Given the description of an element on the screen output the (x, y) to click on. 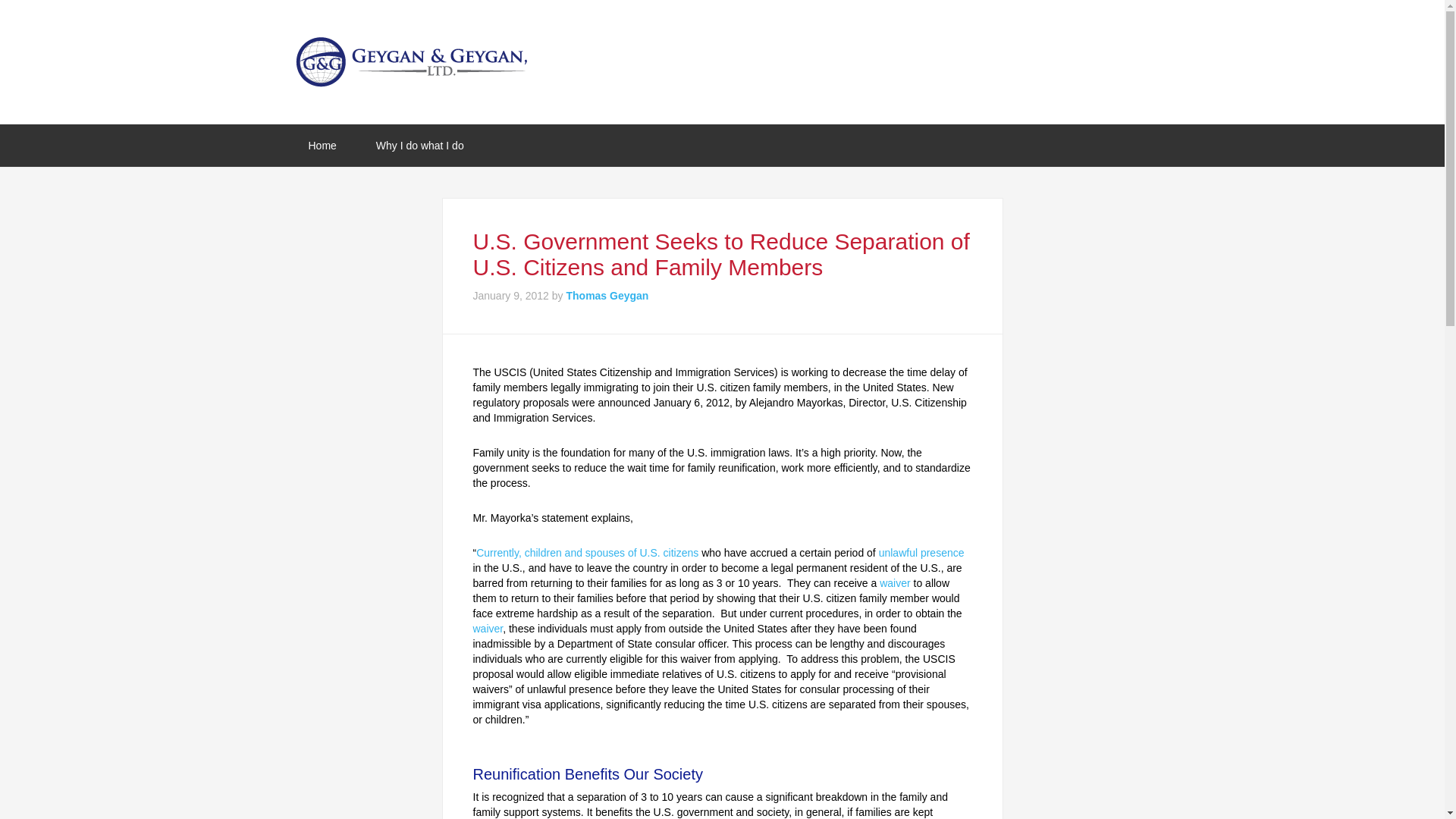
Currently, children and spouses of U.S. citizens (588, 552)
waiver (894, 582)
waiver (488, 628)
unlawful presence (921, 552)
Thomas Geygan (606, 295)
About Us (419, 145)
Home (321, 145)
Why I do what I do (419, 145)
